Given the description of an element on the screen output the (x, y) to click on. 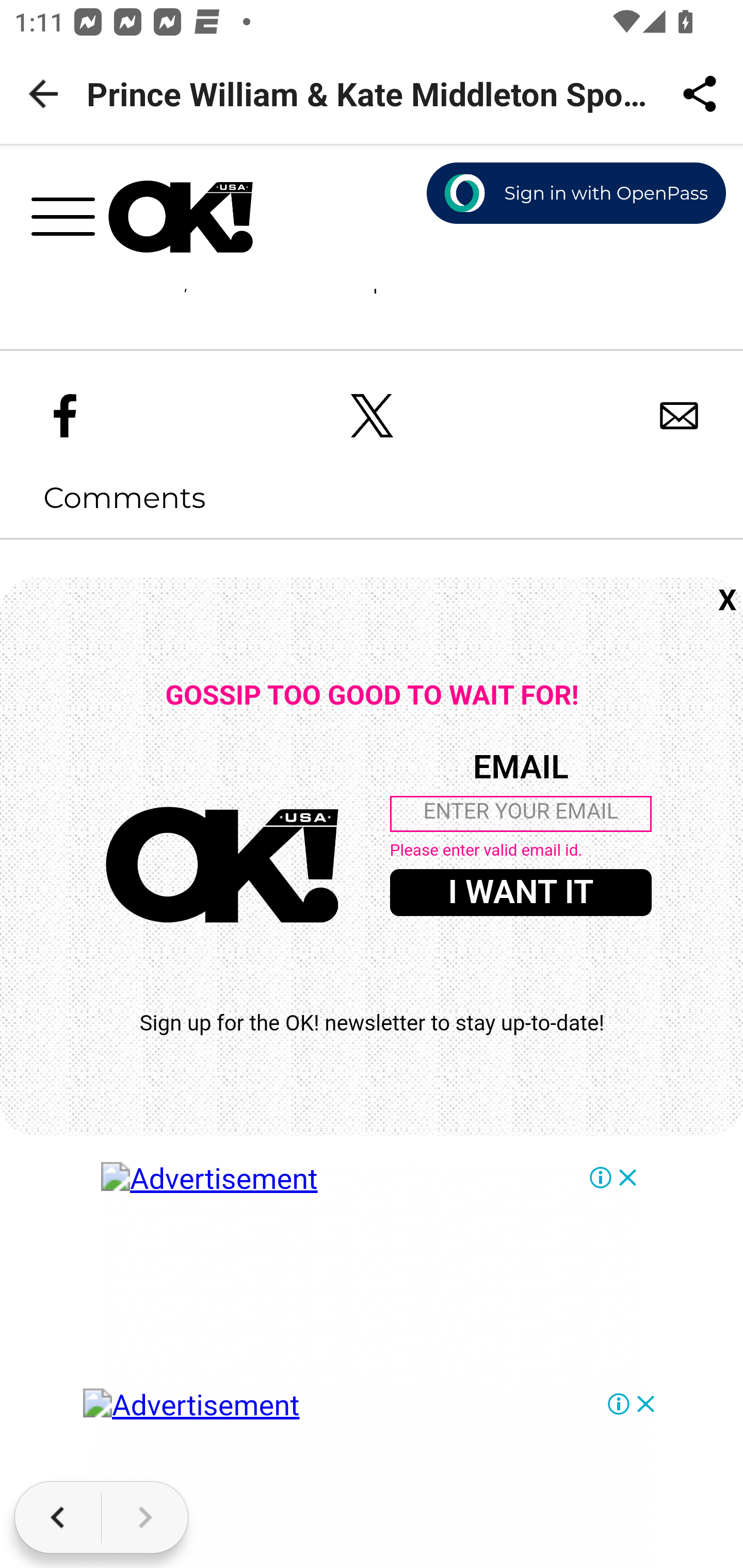
Sign in with OpenPass Button (576, 194)
toggle (70, 223)
OK Magazine (180, 217)
Link to Facebook (65, 417)
Share to X (372, 417)
Share to Email (679, 417)
Comments (103, 499)
X (727, 602)
Advertisement (372, 1364)
Advertisement (372, 1479)
